Given the description of an element on the screen output the (x, y) to click on. 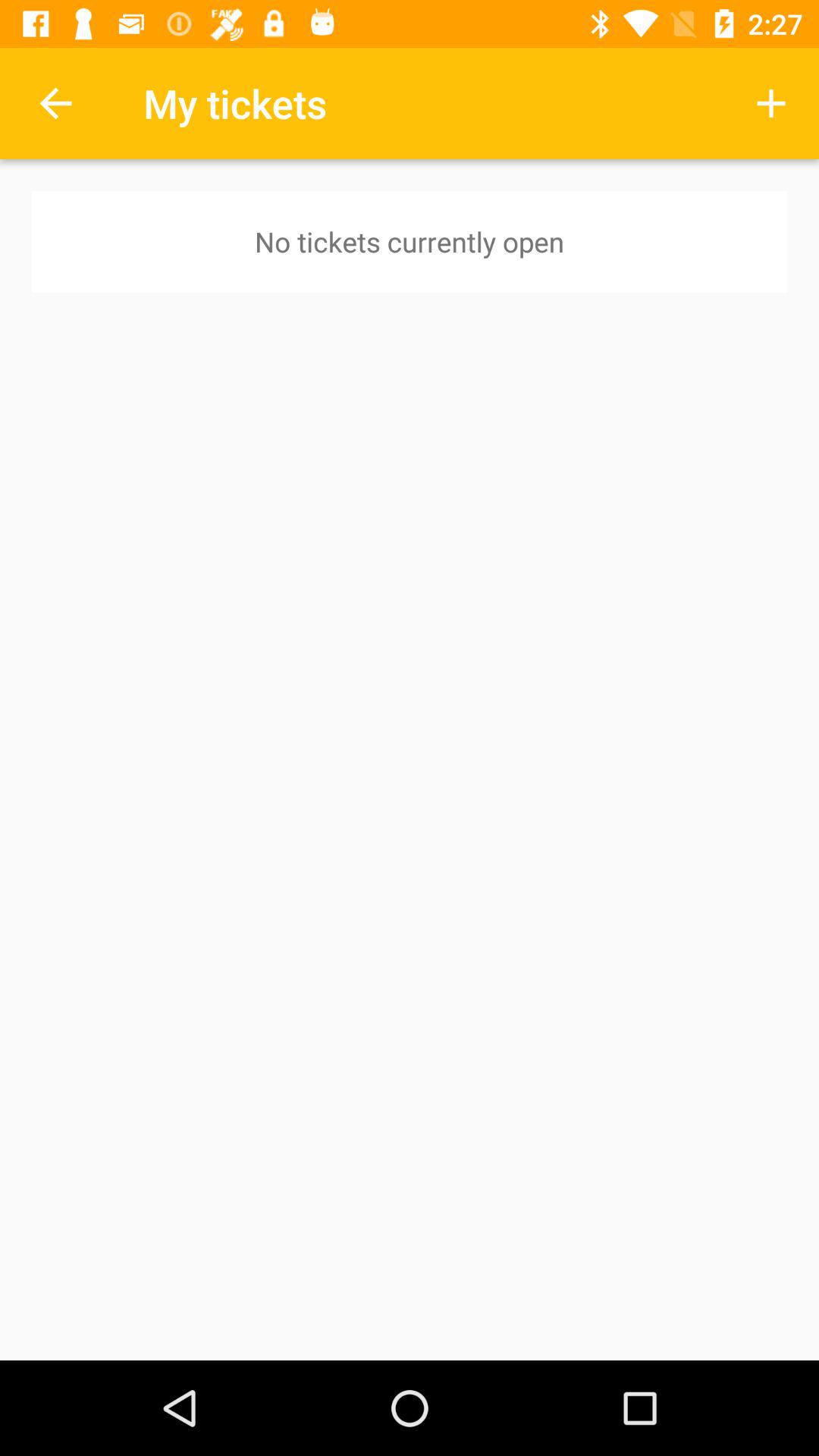
select item next to my tickets (55, 103)
